Given the description of an element on the screen output the (x, y) to click on. 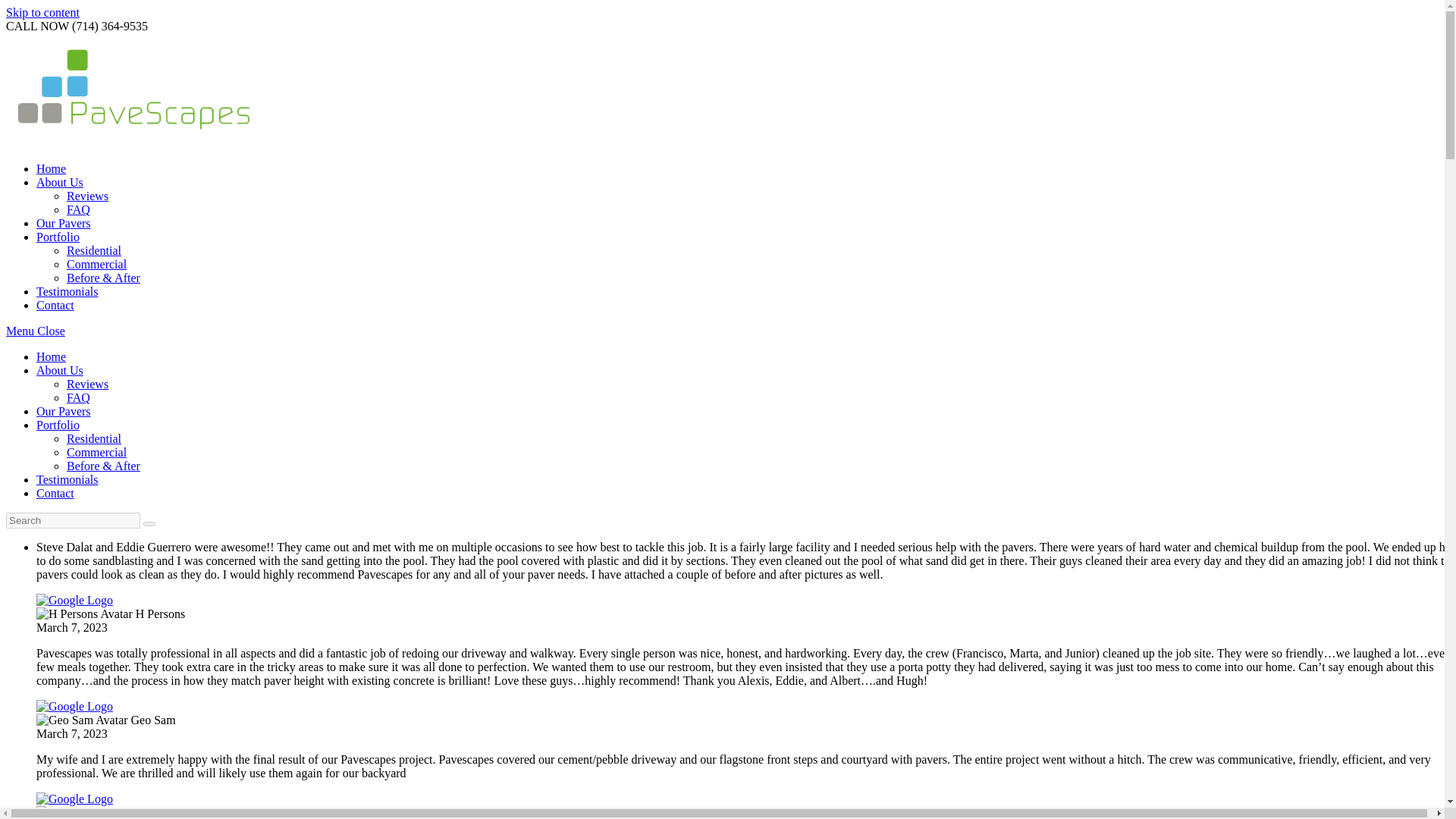
Residential (93, 438)
Testimonials (67, 291)
About Us (59, 369)
Home (50, 356)
Reviews (86, 195)
Contact (55, 305)
About Us (59, 182)
Home (50, 168)
Our Pavers (63, 410)
Our Pavers (63, 223)
Portfolio (58, 236)
Skip to content (42, 11)
Commercial (96, 264)
FAQ (78, 209)
Contact (55, 492)
